Given the description of an element on the screen output the (x, y) to click on. 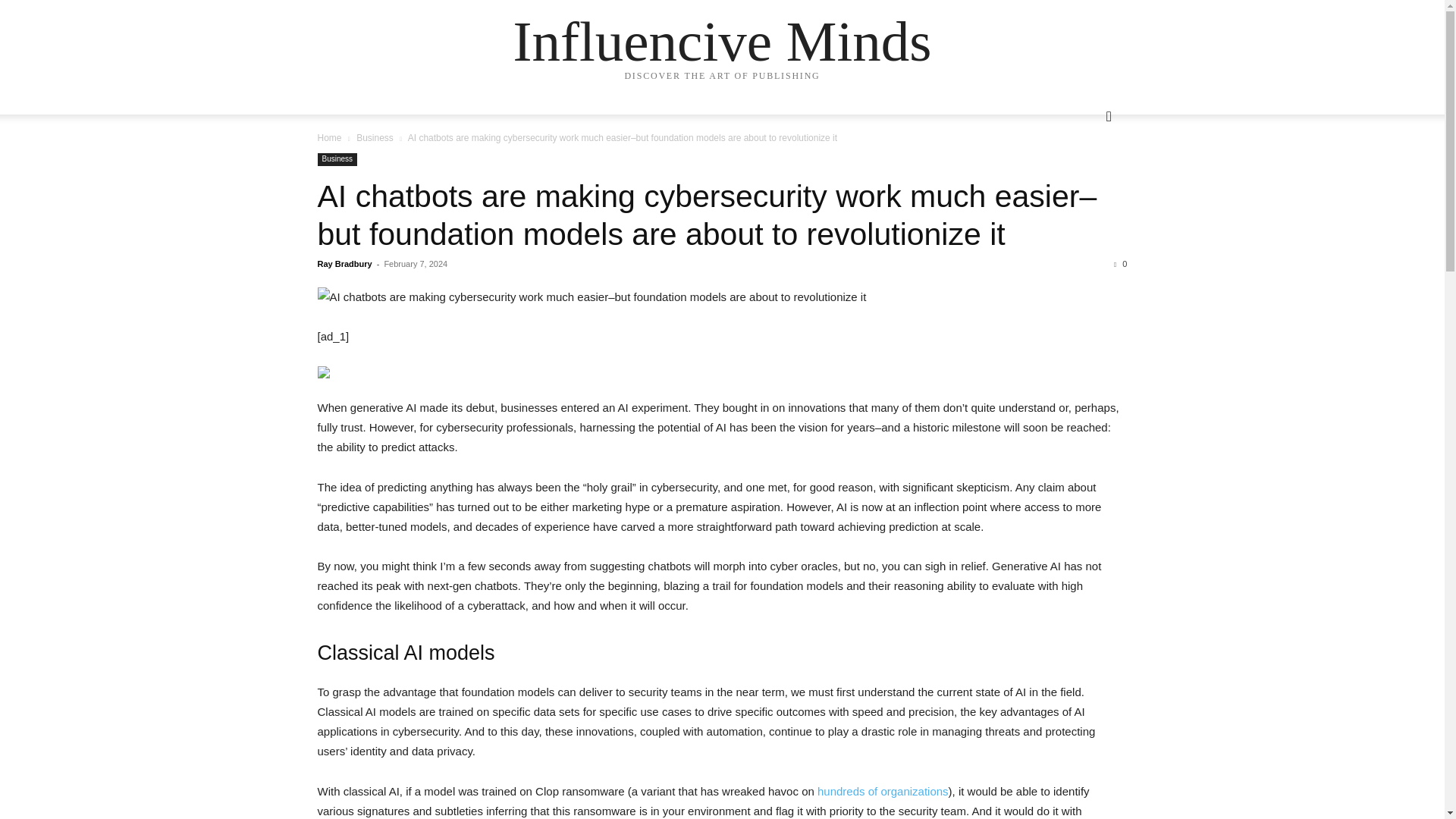
0 (1119, 263)
Ray Bradbury (344, 263)
hundreds of organizations (882, 789)
View all posts in Business (374, 137)
Business (374, 137)
Business (336, 159)
Influencive Minds (722, 41)
Home (328, 137)
Search (1085, 177)
